Given the description of an element on the screen output the (x, y) to click on. 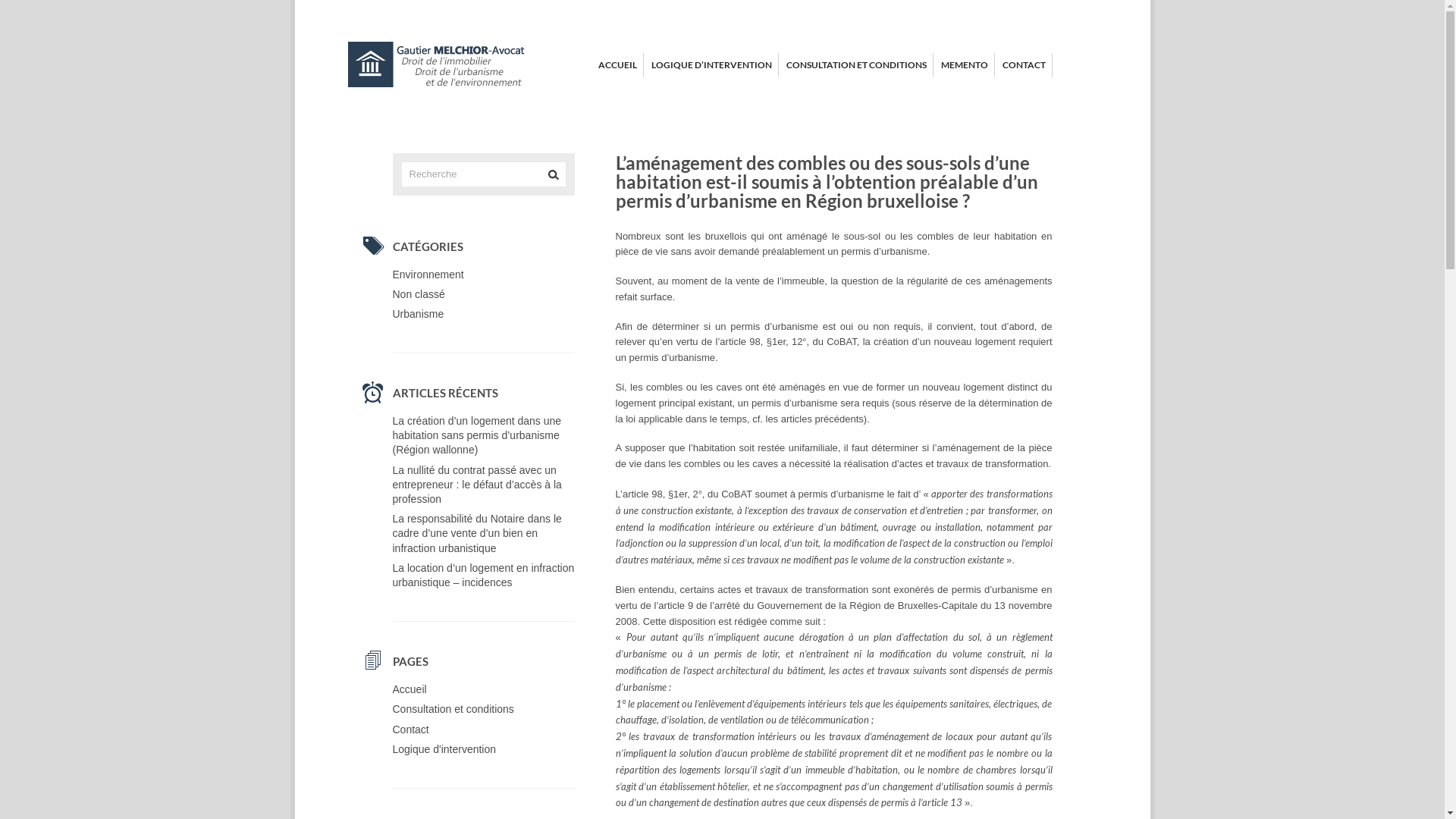
Contact Element type: text (410, 729)
Accueil Element type: text (409, 689)
Logique d'intervention Element type: text (444, 749)
CONSULTATION ET CONDITIONS Element type: text (855, 65)
Environnement Element type: text (428, 274)
Urbanisme Element type: text (418, 313)
ACCUEIL Element type: text (616, 65)
MEMENTO Element type: text (963, 65)
Consultation et conditions Element type: text (453, 708)
CONTACT Element type: text (1023, 65)
Search Element type: text (553, 174)
